Given the description of an element on the screen output the (x, y) to click on. 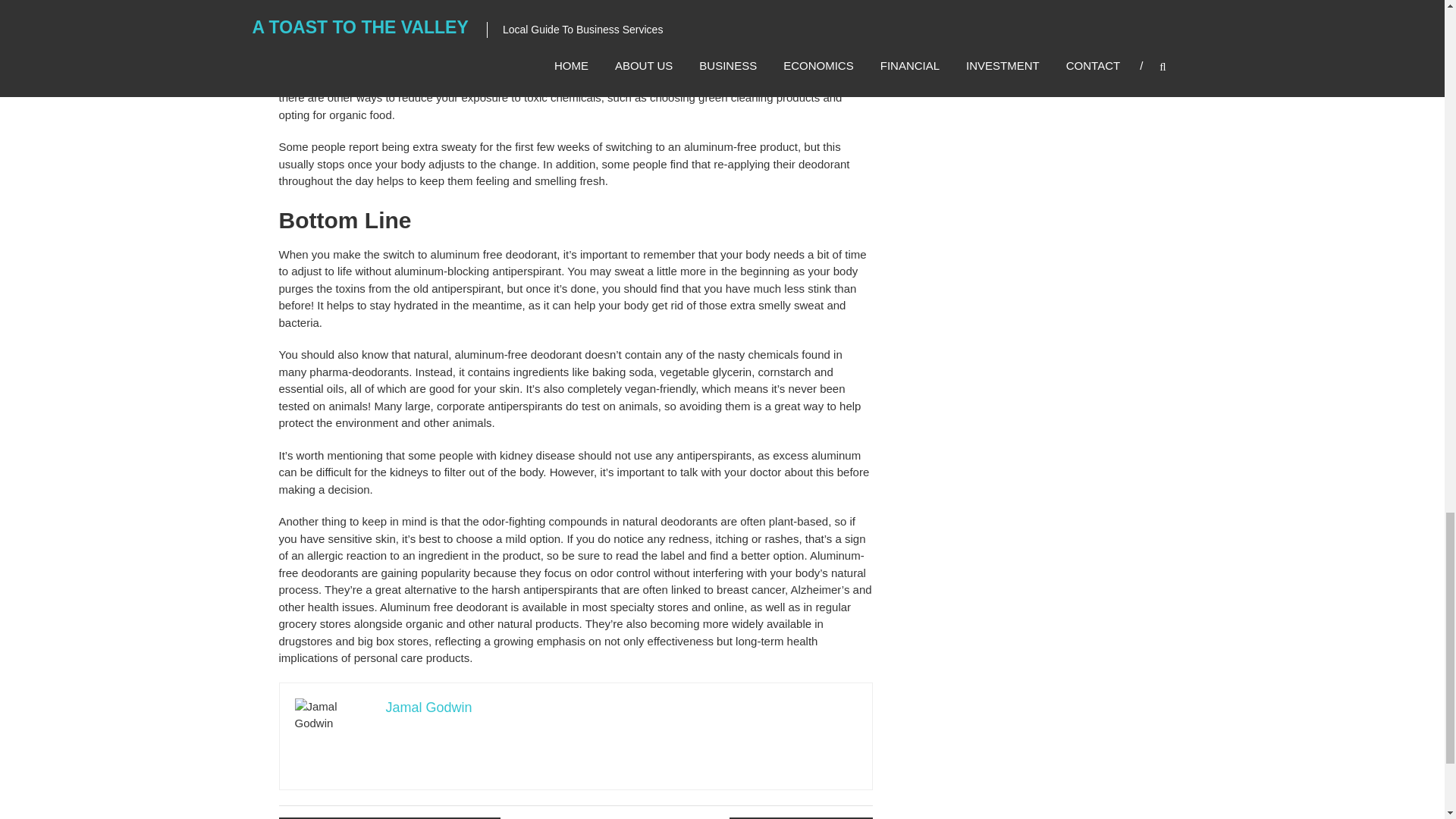
Jamal Godwin (428, 707)
